Given the description of an element on the screen output the (x, y) to click on. 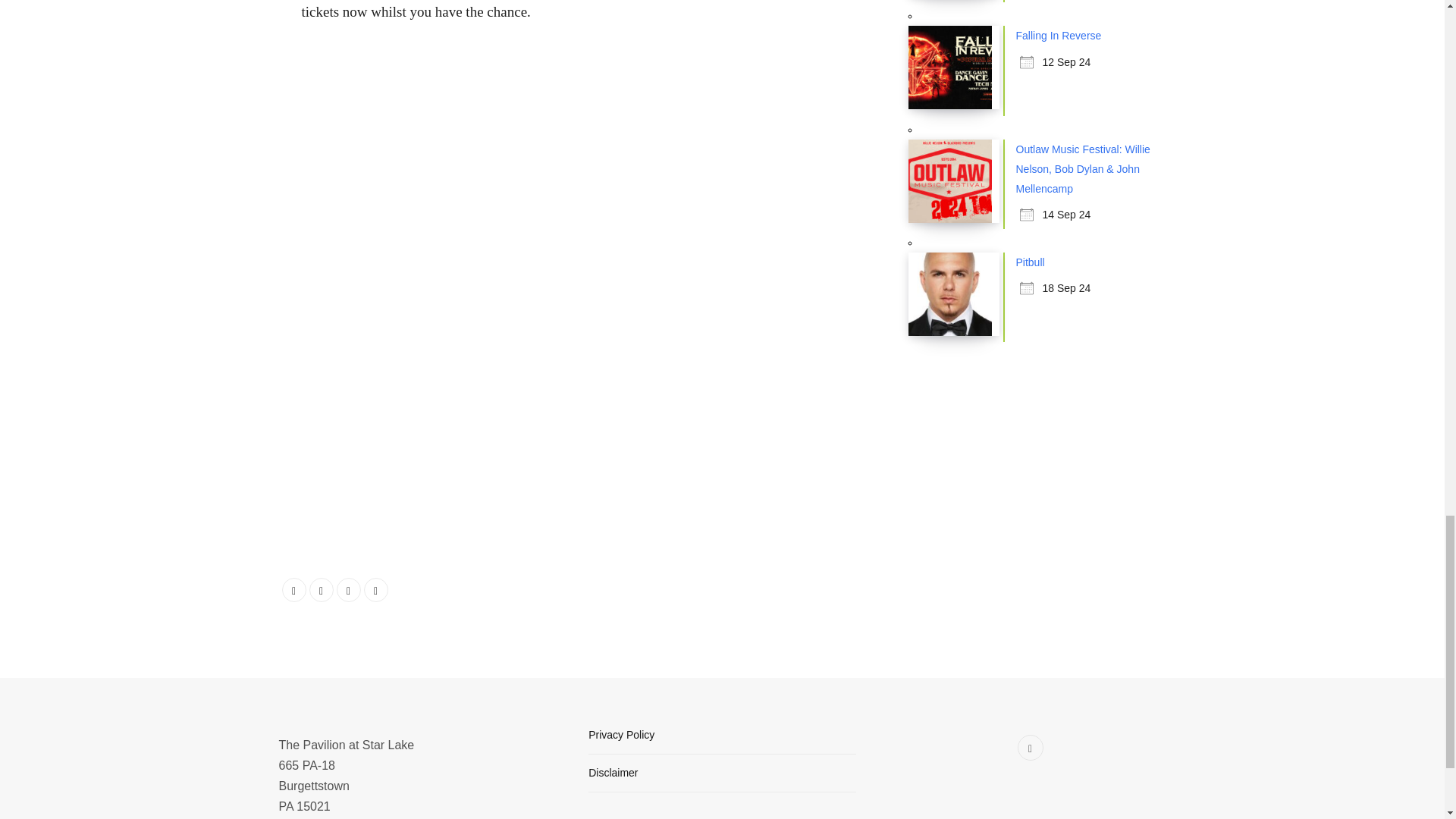
Falling In Reverse (1059, 35)
LinkedIn (348, 589)
Disclaimer (612, 772)
Privacy Policy (620, 734)
Pitbull (1030, 262)
Twitter (320, 589)
Pinterest (376, 589)
Facebook (293, 589)
